Given the description of an element on the screen output the (x, y) to click on. 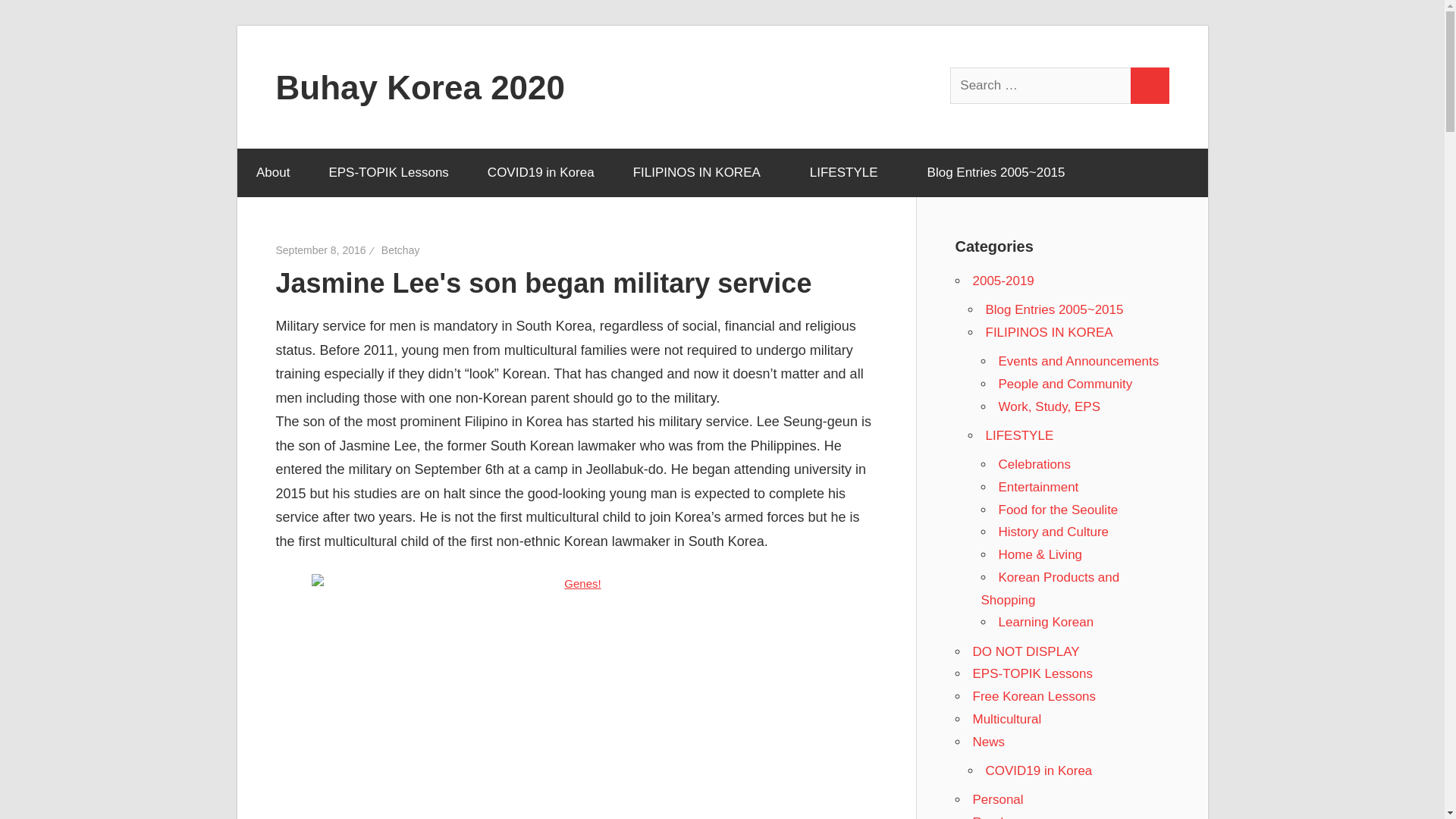
Betchay (400, 250)
3:45 pm (321, 250)
About (271, 172)
Search for: (1041, 85)
September 8, 2016 (321, 250)
EPS-TOPIK Lessons (387, 172)
COVID19 in Korea (539, 172)
Buhay Korea 2020 (421, 86)
View all posts by Betchay (400, 250)
LIFESTYLE (848, 172)
